Given the description of an element on the screen output the (x, y) to click on. 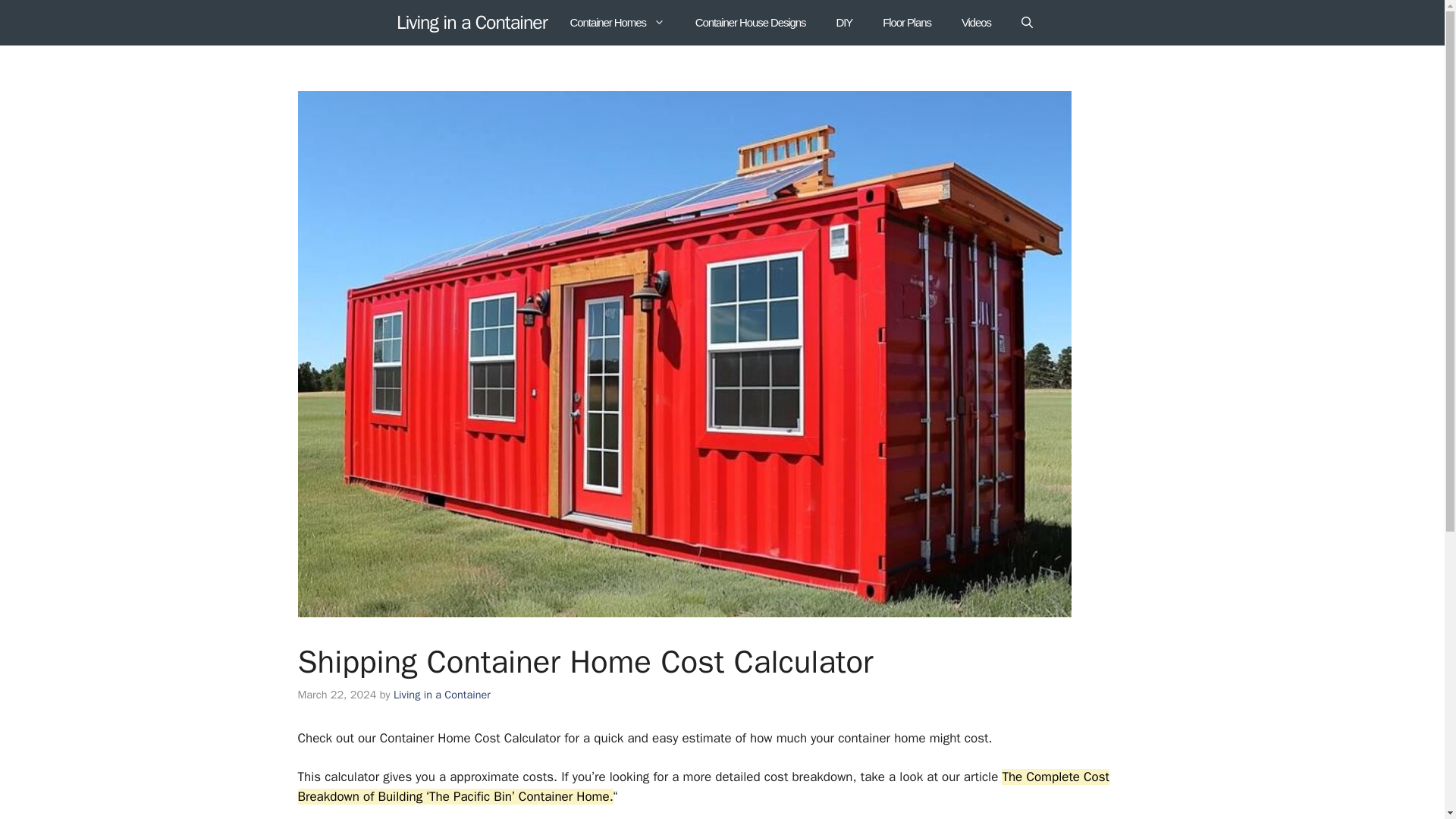
Container House Designs (750, 22)
Living in a Container (441, 694)
DIY (844, 22)
View all posts by Living in a Container (441, 694)
Container Homes (616, 22)
Living in a Container (471, 22)
Videos (976, 22)
Floor Plans (906, 22)
